Given the description of an element on the screen output the (x, y) to click on. 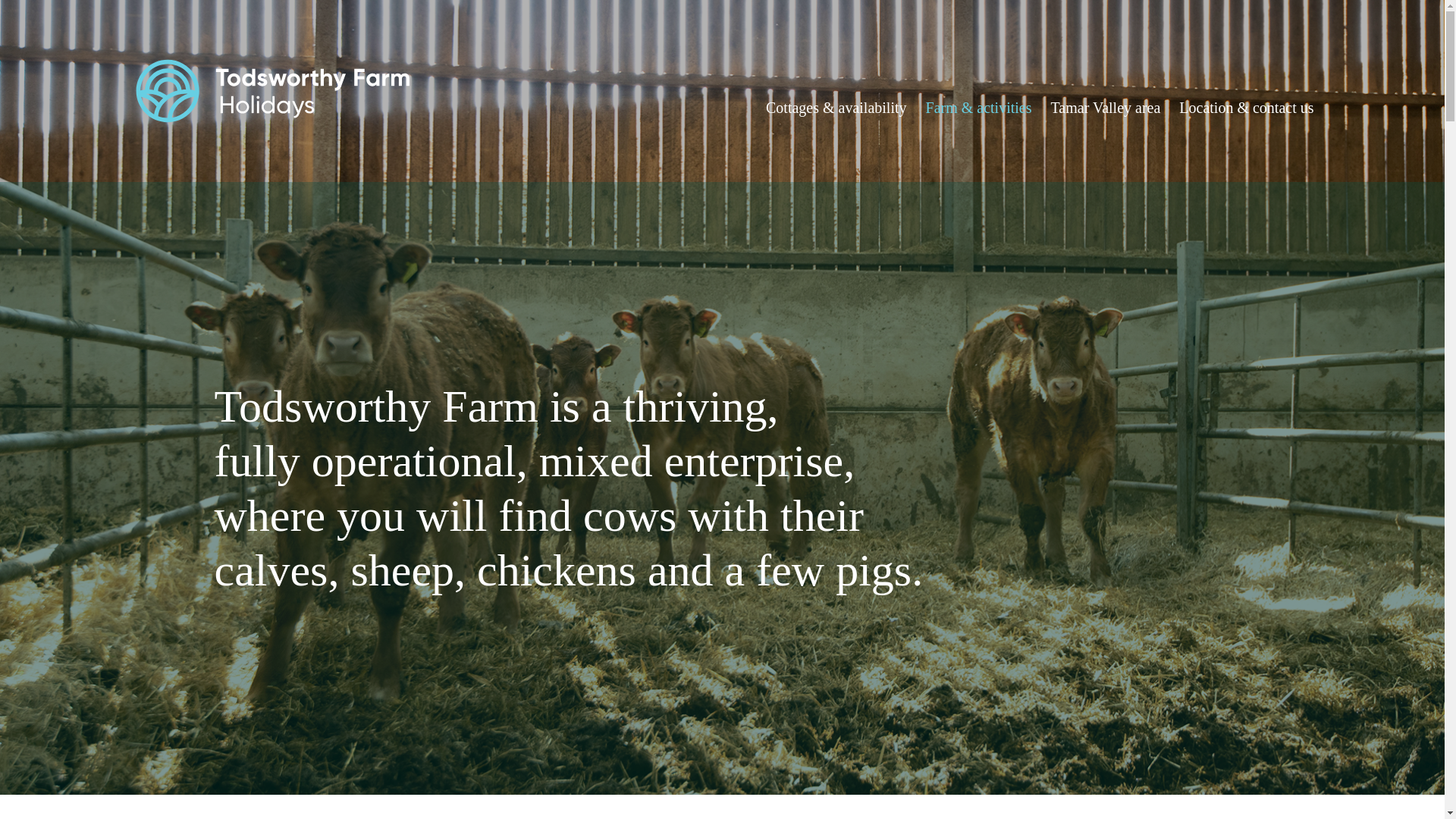
Tamar Valley area (1105, 107)
